Given the description of an element on the screen output the (x, y) to click on. 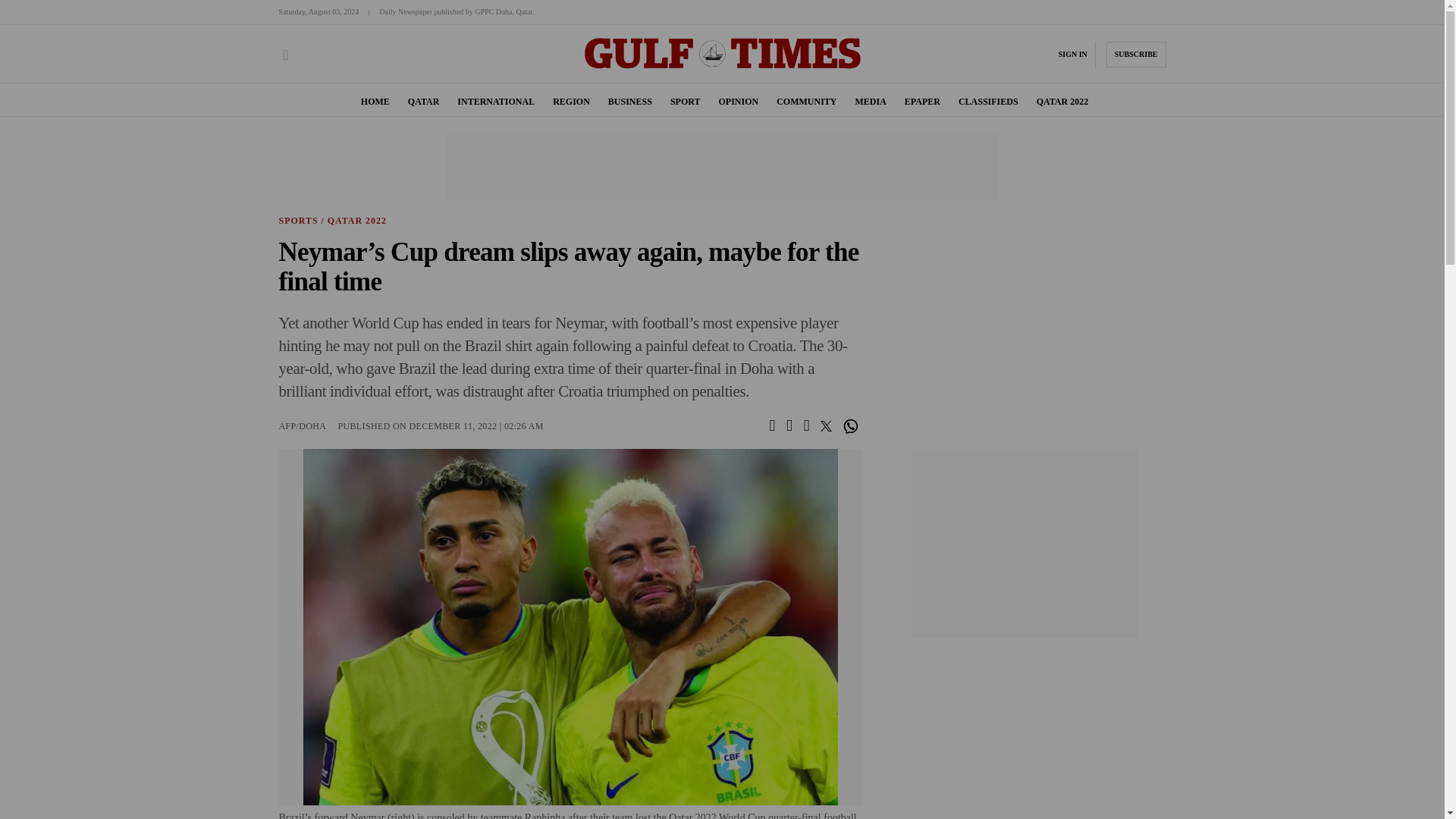
BUSINESS (630, 101)
HOME (375, 101)
MEDIA (869, 101)
REGION (571, 101)
INTERNATIONAL (495, 101)
Qatar 2022 (1062, 101)
MEDIA (869, 101)
SPORTS (298, 220)
HOME (375, 101)
Sign In (1072, 53)
QATAR (423, 101)
REGION (571, 101)
SPORT (684, 101)
QATAR 2022 (1062, 101)
EPAPER (922, 101)
